Given the description of an element on the screen output the (x, y) to click on. 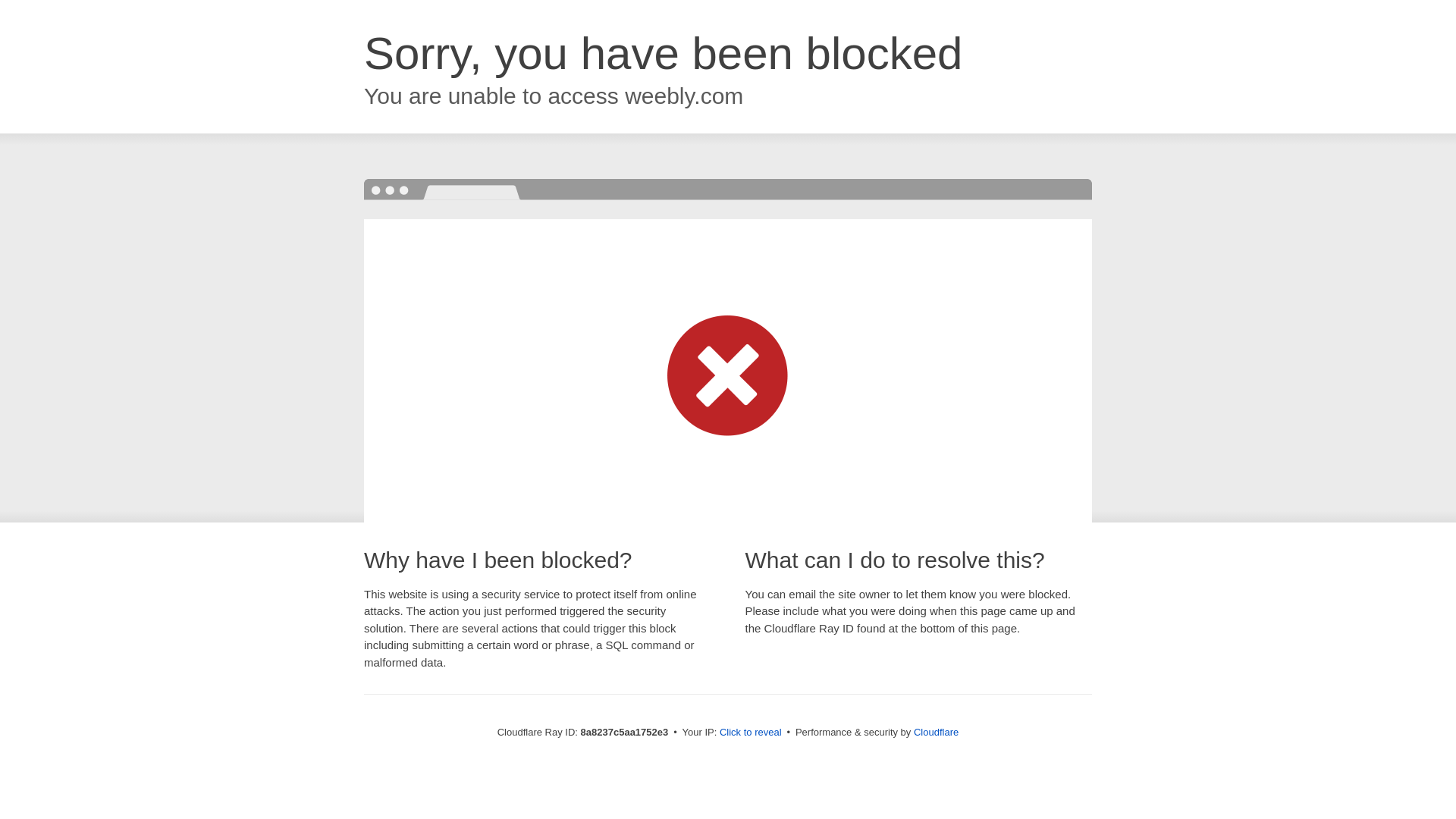
Click to reveal (750, 732)
Cloudflare (936, 731)
